Given the description of an element on the screen output the (x, y) to click on. 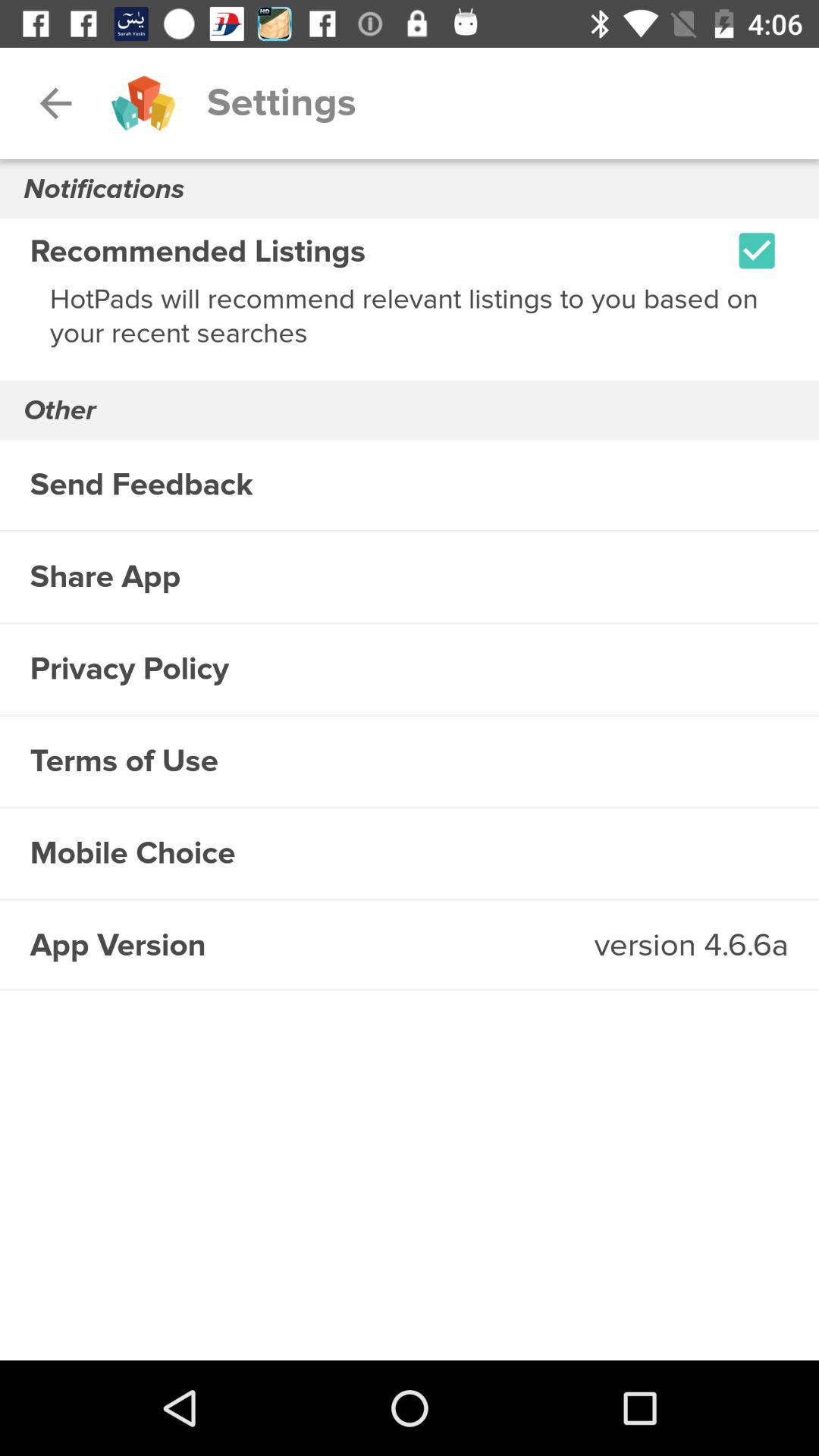
select the icon above the hotpads will recommend (756, 250)
